Given the description of an element on the screen output the (x, y) to click on. 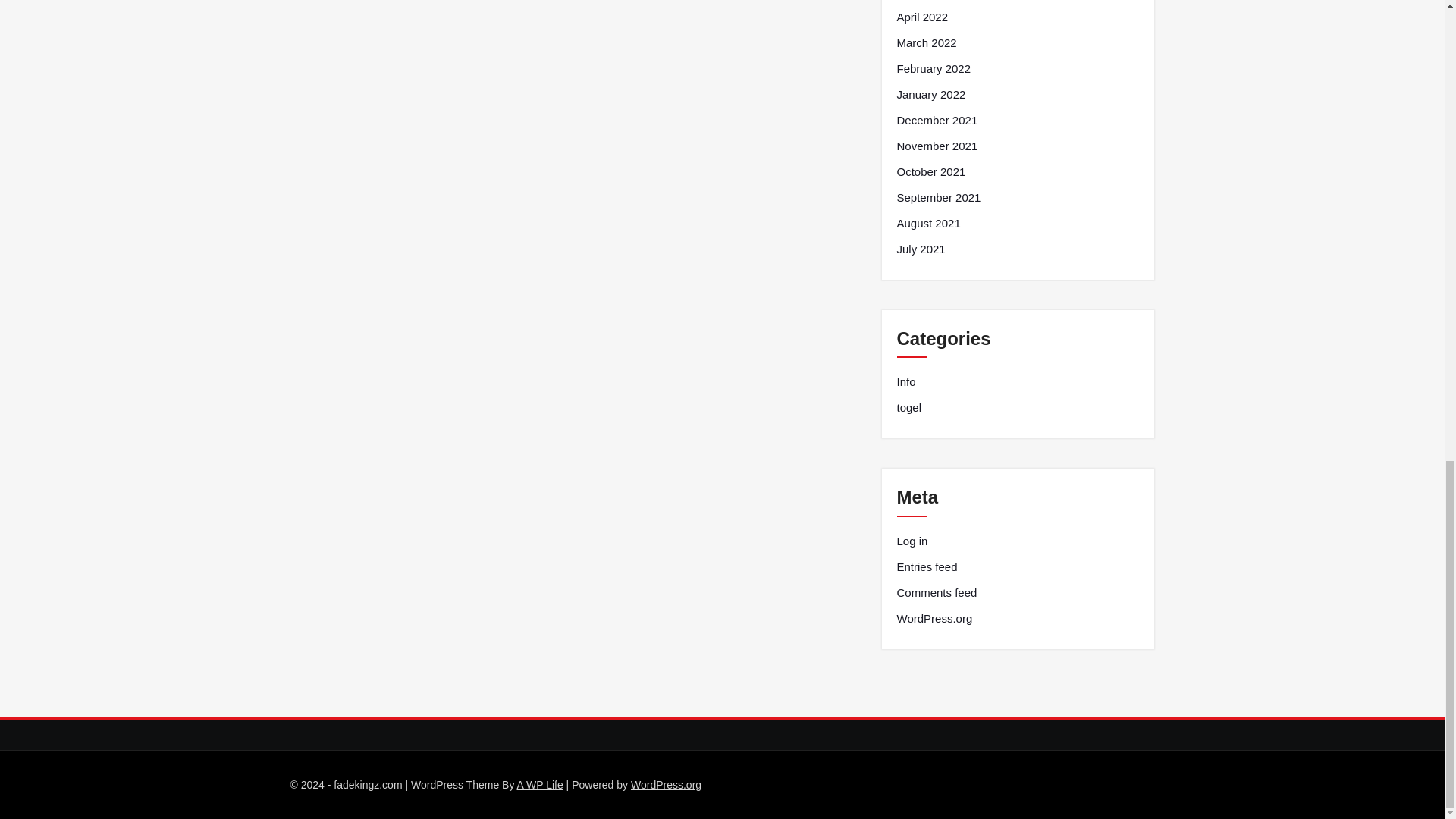
March 2022 (926, 43)
April 2022 (921, 17)
May 2022 (921, 0)
